Given the description of an element on the screen output the (x, y) to click on. 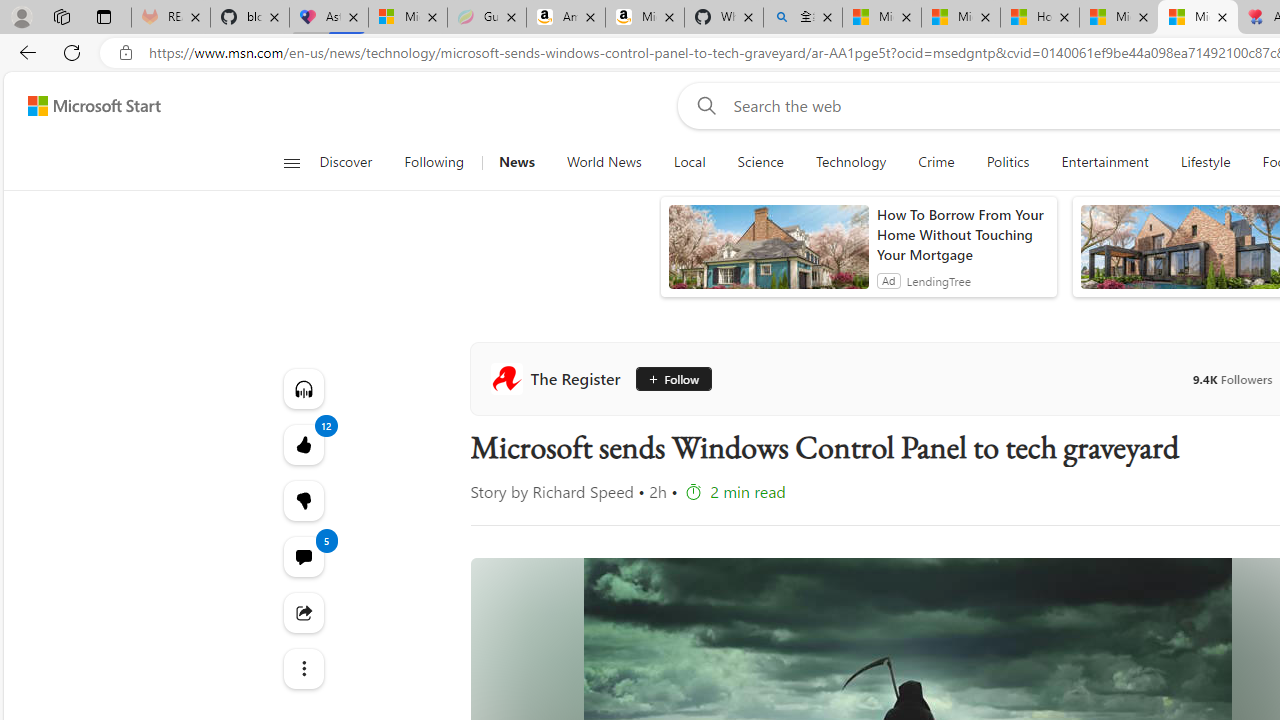
Lifestyle (1204, 162)
Listen to this article (302, 388)
Share this story (302, 612)
12 (302, 500)
Science (760, 162)
Entertainment (1104, 162)
Class: at-item (302, 668)
Entertainment (1105, 162)
Technology (850, 162)
World News (603, 162)
Web search (702, 105)
